Given the description of an element on the screen output the (x, y) to click on. 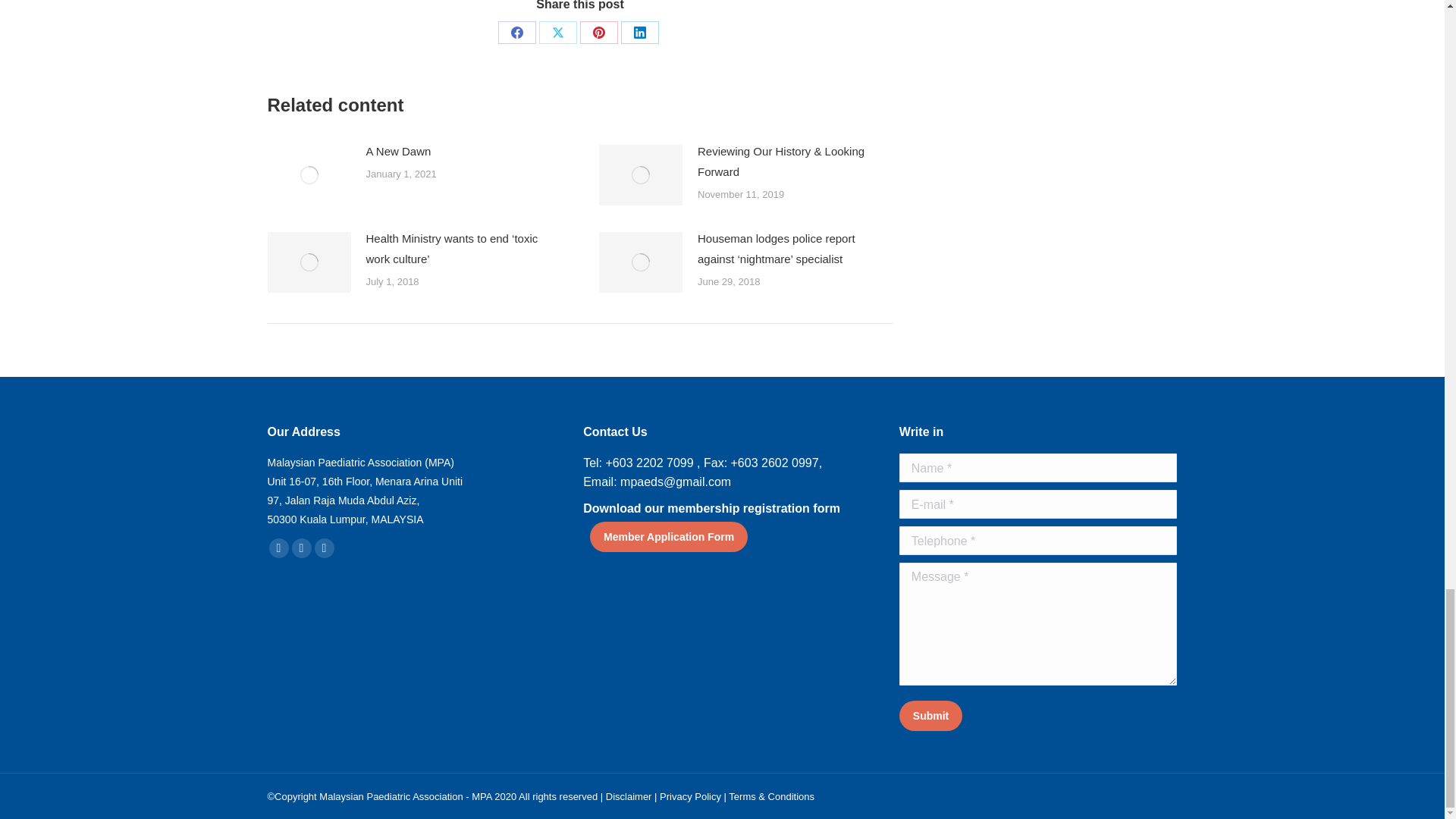
Pinterest (598, 32)
LinkedIn (640, 32)
YouTube page opens in new window (323, 547)
Facebook page opens in new window (277, 547)
Facebook (516, 32)
X (557, 32)
X page opens in new window (301, 547)
submit (1002, 717)
